Given the description of an element on the screen output the (x, y) to click on. 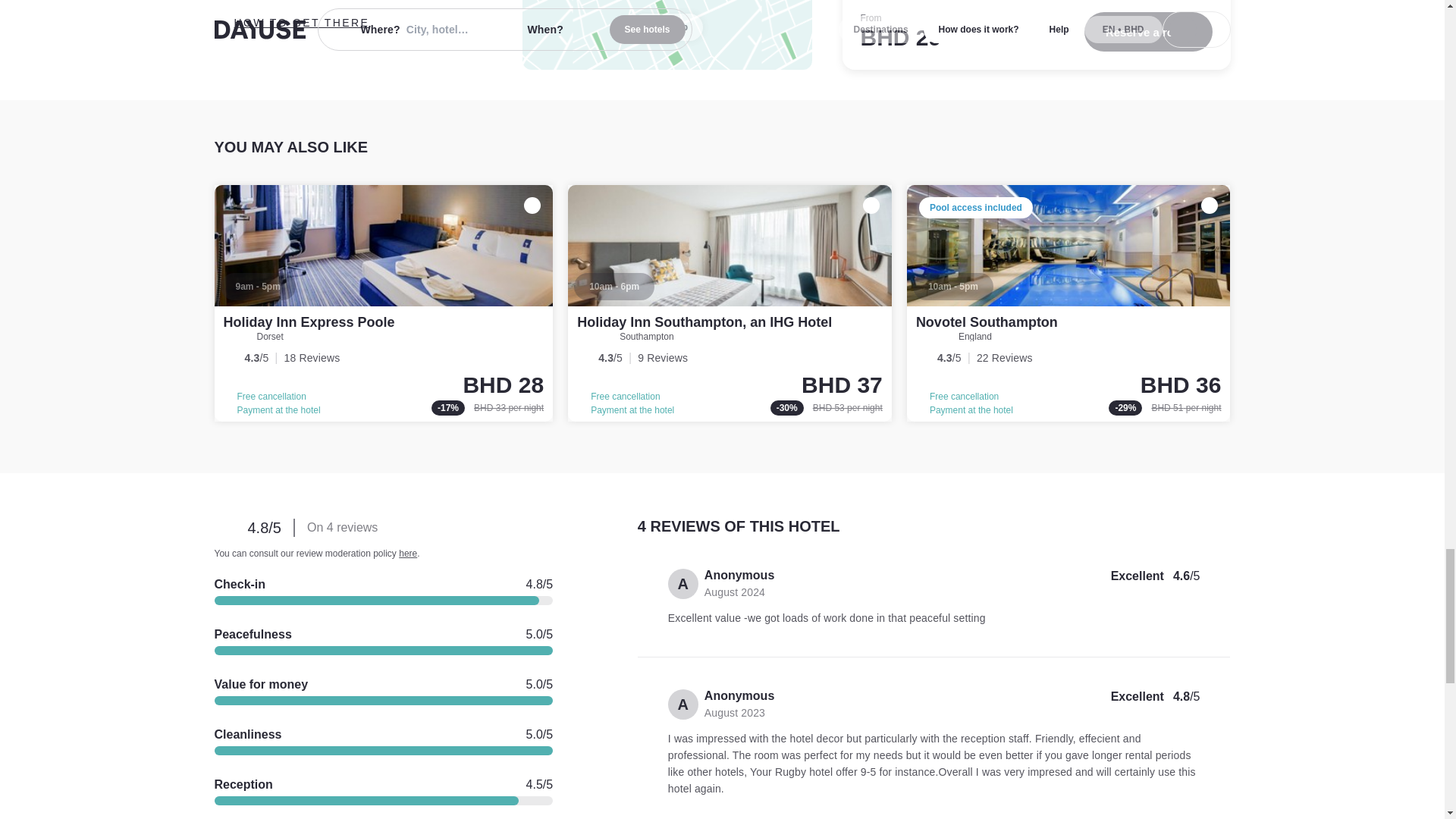
Holiday Inn Express Poole (308, 322)
Novotel Southampton (1068, 303)
Holiday Inn Express Poole (383, 303)
Novotel Southampton (986, 322)
Holiday Inn Southampton, an IHG Hotel (703, 322)
Holiday Inn Southampton, an IHG Hotel (729, 303)
